Given the description of an element on the screen output the (x, y) to click on. 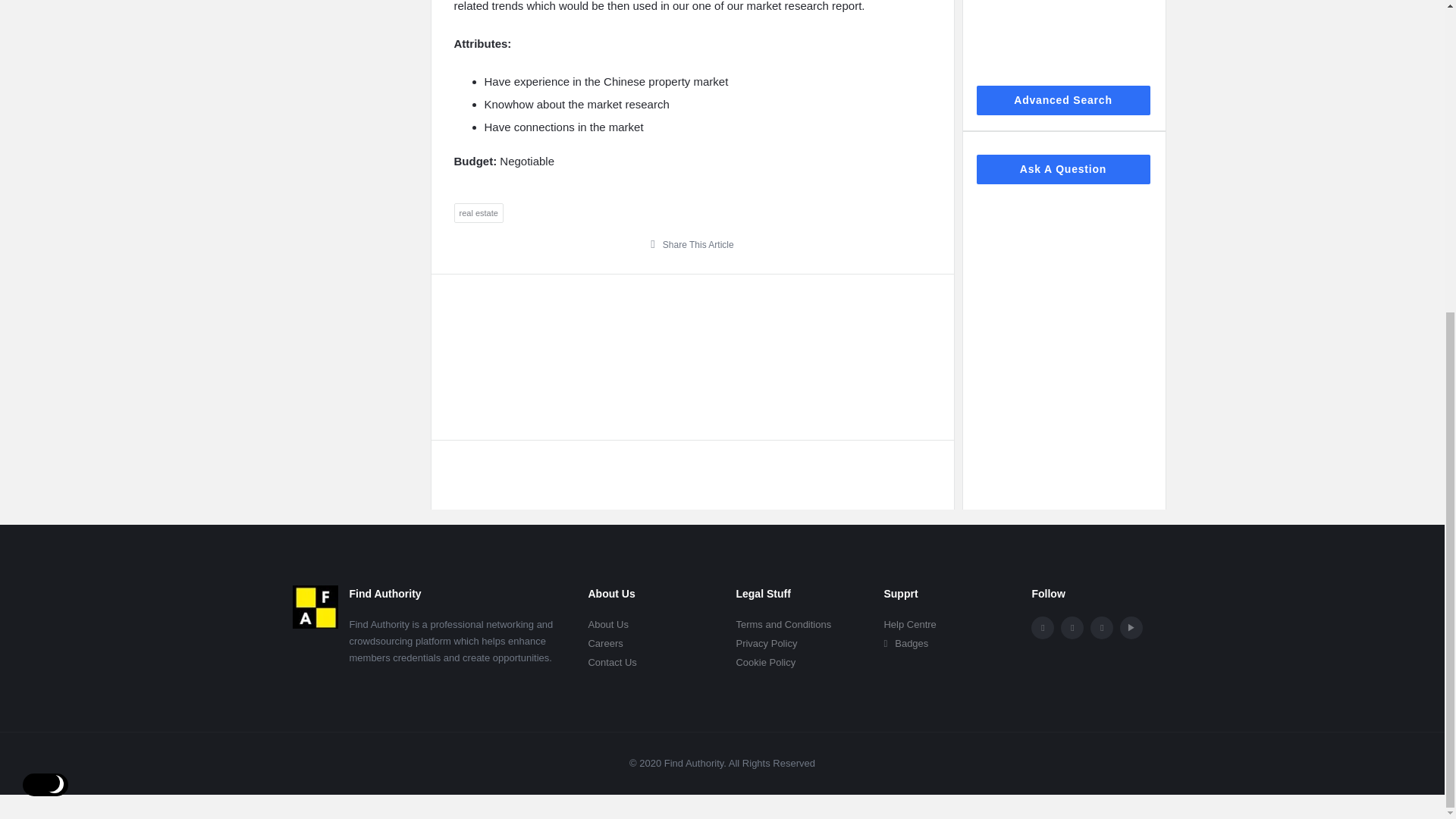
Cookie Policy (764, 662)
Facebook (1042, 627)
Help Centre (909, 624)
Contact Us (612, 662)
Advertisement (691, 356)
real estate (477, 212)
Careers (605, 643)
About Us (607, 624)
Terms and Conditions (783, 624)
Privacy Policy (765, 643)
Twitter (1072, 627)
Linkedin (1101, 627)
Youtube (1130, 627)
